Given the description of an element on the screen output the (x, y) to click on. 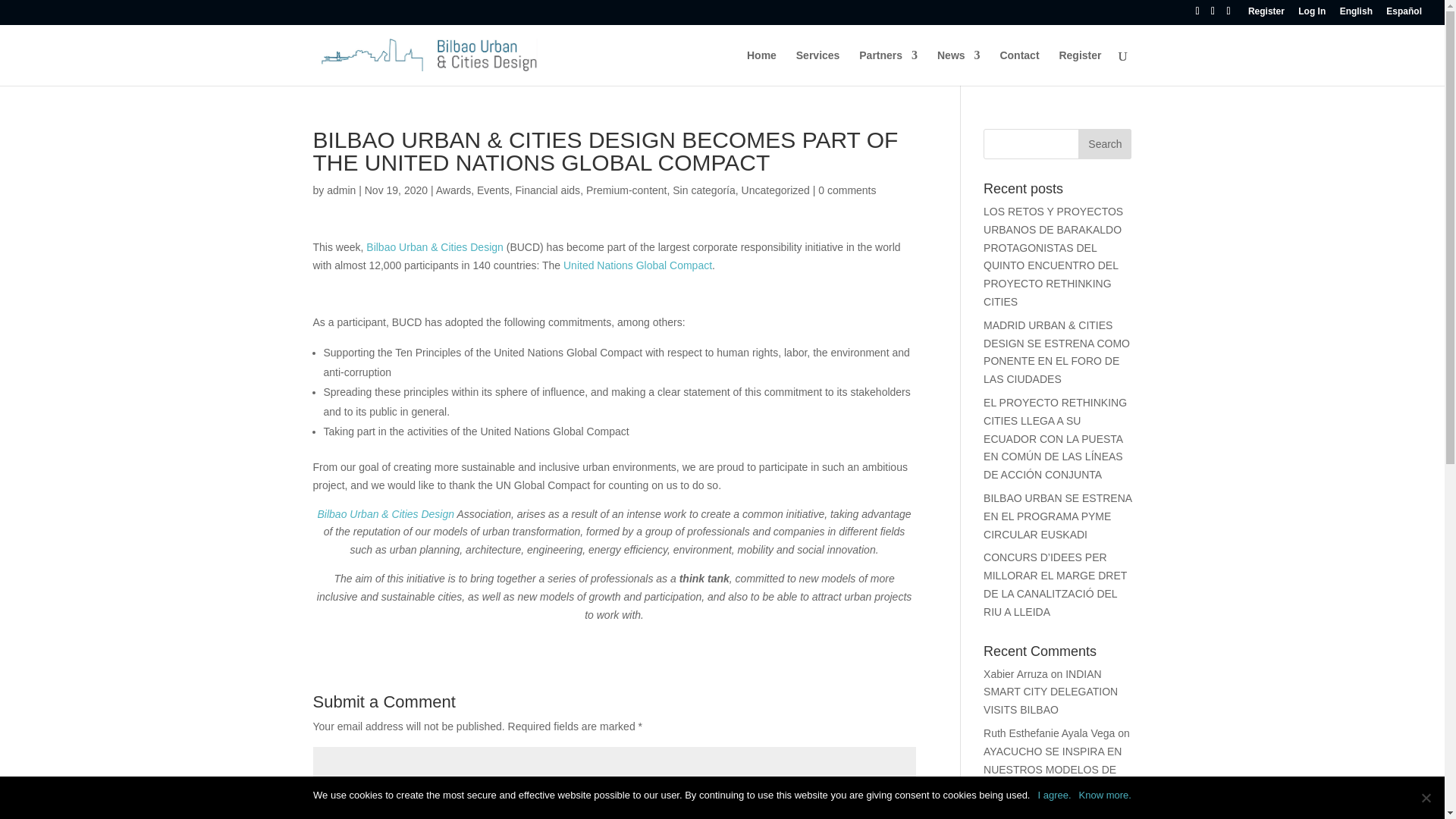
Log In (1311, 14)
Contact (1018, 67)
Posts by admin (340, 190)
Search (1104, 143)
Financial aids (547, 190)
Partners (888, 67)
Services (818, 67)
English (1356, 14)
Premium-content (626, 190)
Awards (452, 190)
